Given the description of an element on the screen output the (x, y) to click on. 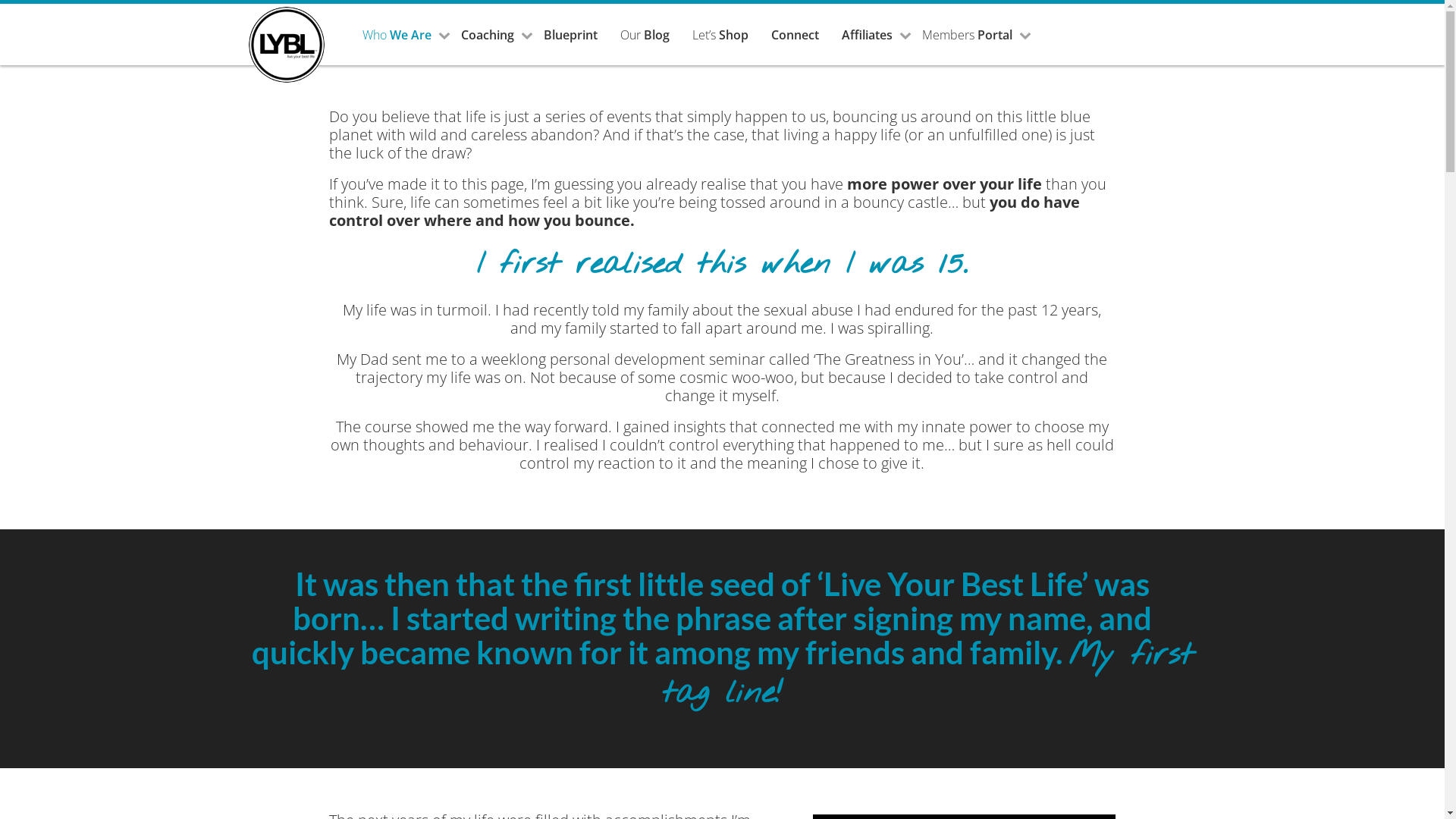
Members Portal Element type: text (970, 34)
Live Your Best Life Element type: hover (286, 44)
Connect Element type: text (794, 34)
Our Blog Element type: text (644, 34)
Who We Are Element type: text (400, 34)
View cart Element type: hover (1042, 34)
Blueprint Element type: text (569, 34)
Affiliates Element type: text (870, 34)
Coaching Element type: text (490, 34)
